Given the description of an element on the screen output the (x, y) to click on. 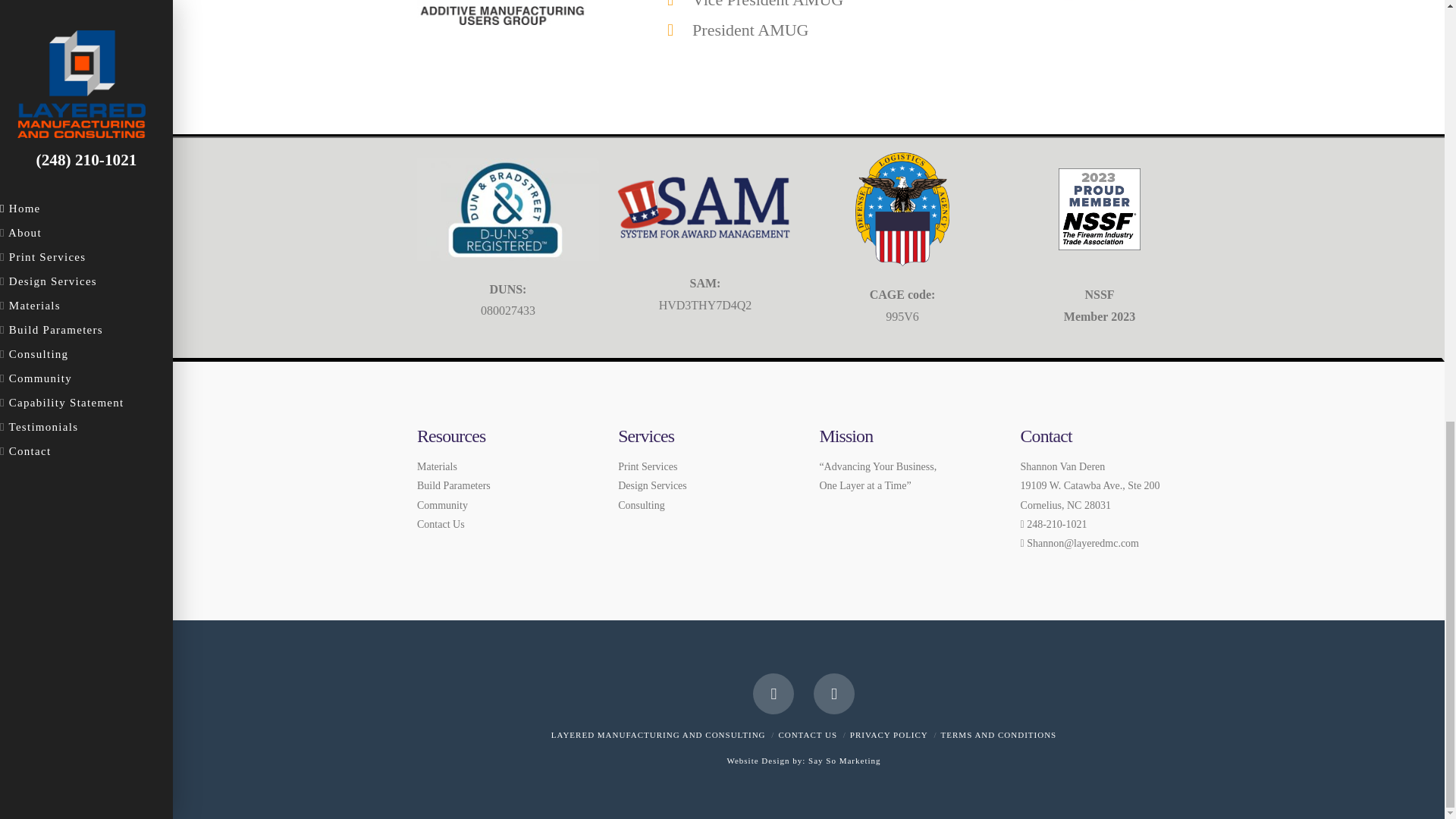
Contact Us (440, 523)
Build Parameters (453, 485)
Say So Marketing (844, 759)
Materials (436, 466)
Print Services (647, 466)
Say So Marketing Web Design (844, 759)
PRIVACY POLICY (889, 734)
Facebook (772, 693)
CONTACT US (807, 734)
LinkedIn (833, 693)
LAYERED MANUFACTURING AND CONSULTING (658, 734)
Design Services (652, 485)
Consulting (640, 505)
Community (441, 505)
TERMS AND CONDITIONS (998, 734)
